Given the description of an element on the screen output the (x, y) to click on. 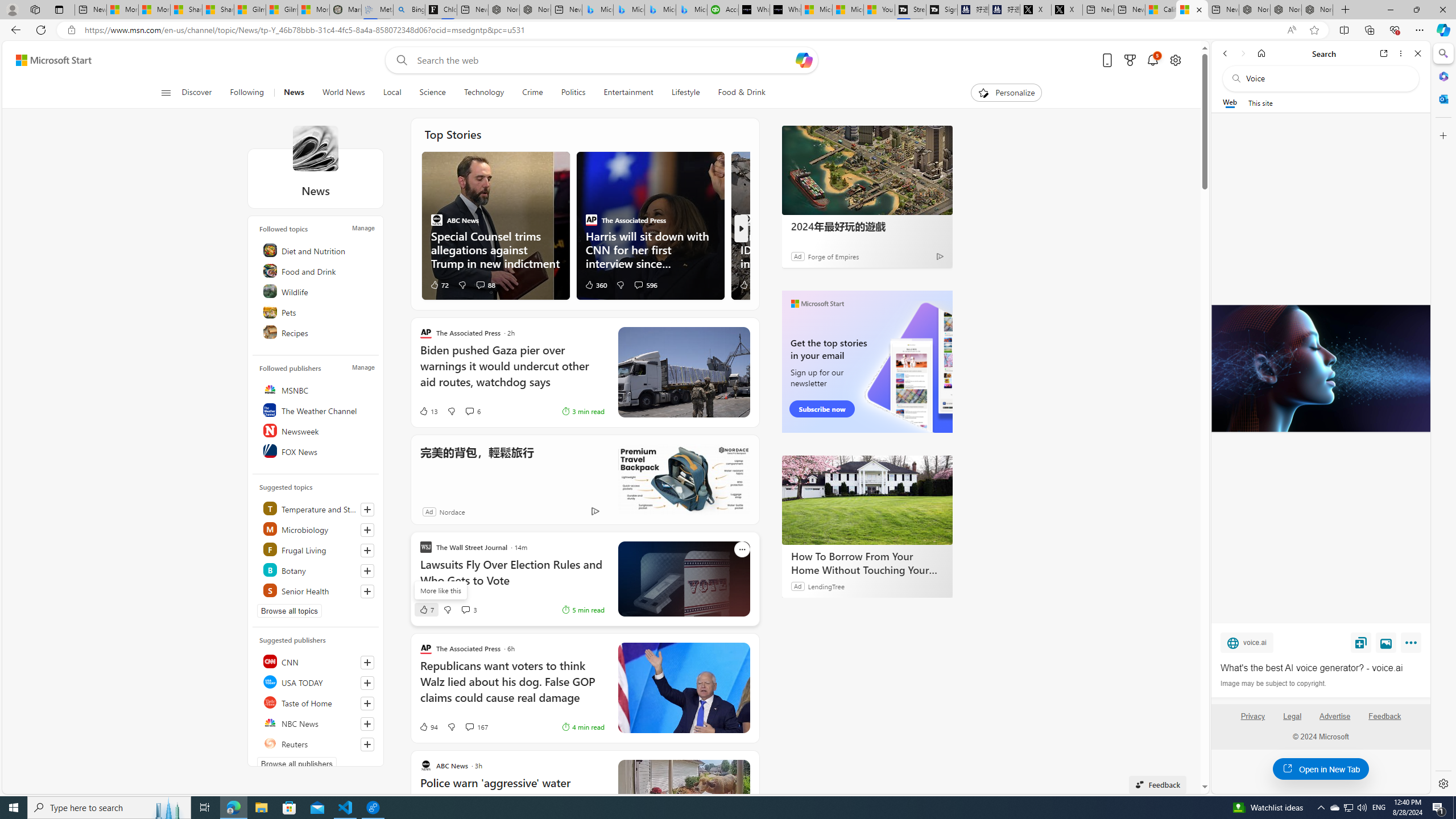
Class: button-glyph (165, 92)
CNN (317, 661)
Follow this source (367, 744)
Open in New Tab (1321, 768)
MSNBC (317, 389)
Forge of Empires (833, 256)
